Given the description of an element on the screen output the (x, y) to click on. 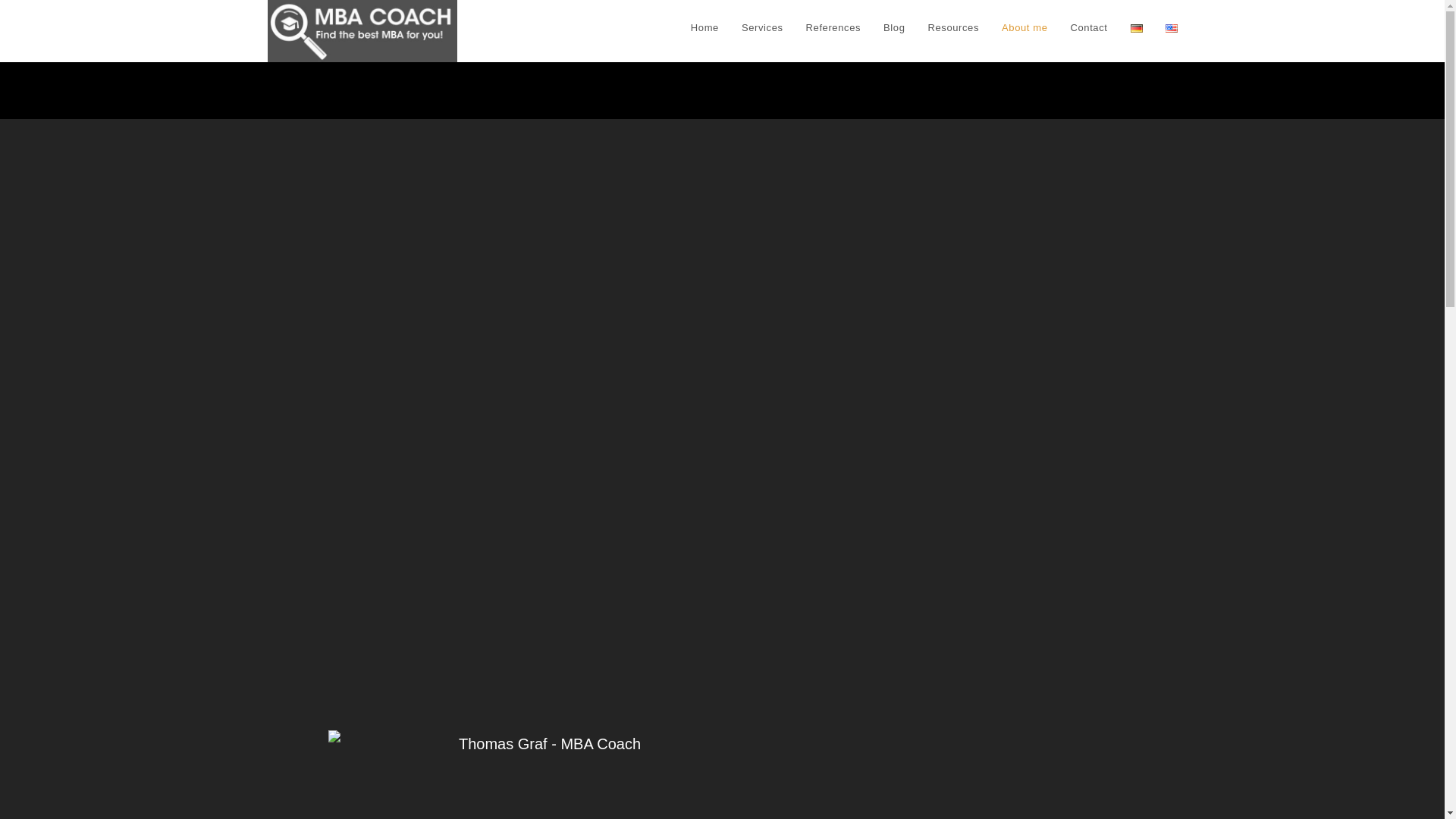
Resources (952, 28)
Contact (1088, 28)
About me (1024, 28)
Services (762, 28)
References (833, 28)
Home (704, 28)
